Given the description of an element on the screen output the (x, y) to click on. 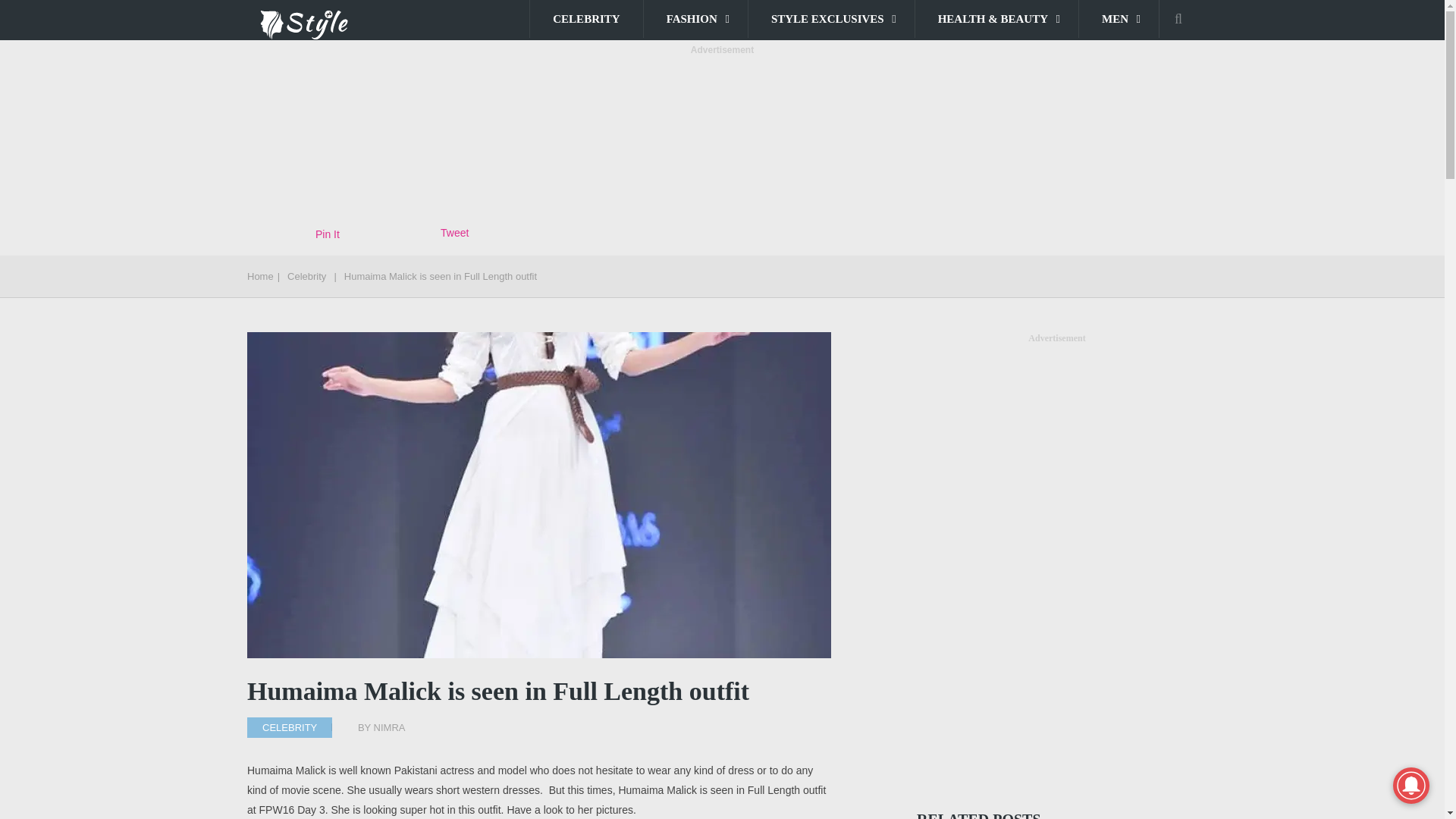
FASHION (695, 18)
CELEBRITY (585, 18)
STYLE EXCLUSIVES (831, 18)
MEN (1118, 18)
